Given the description of an element on the screen output the (x, y) to click on. 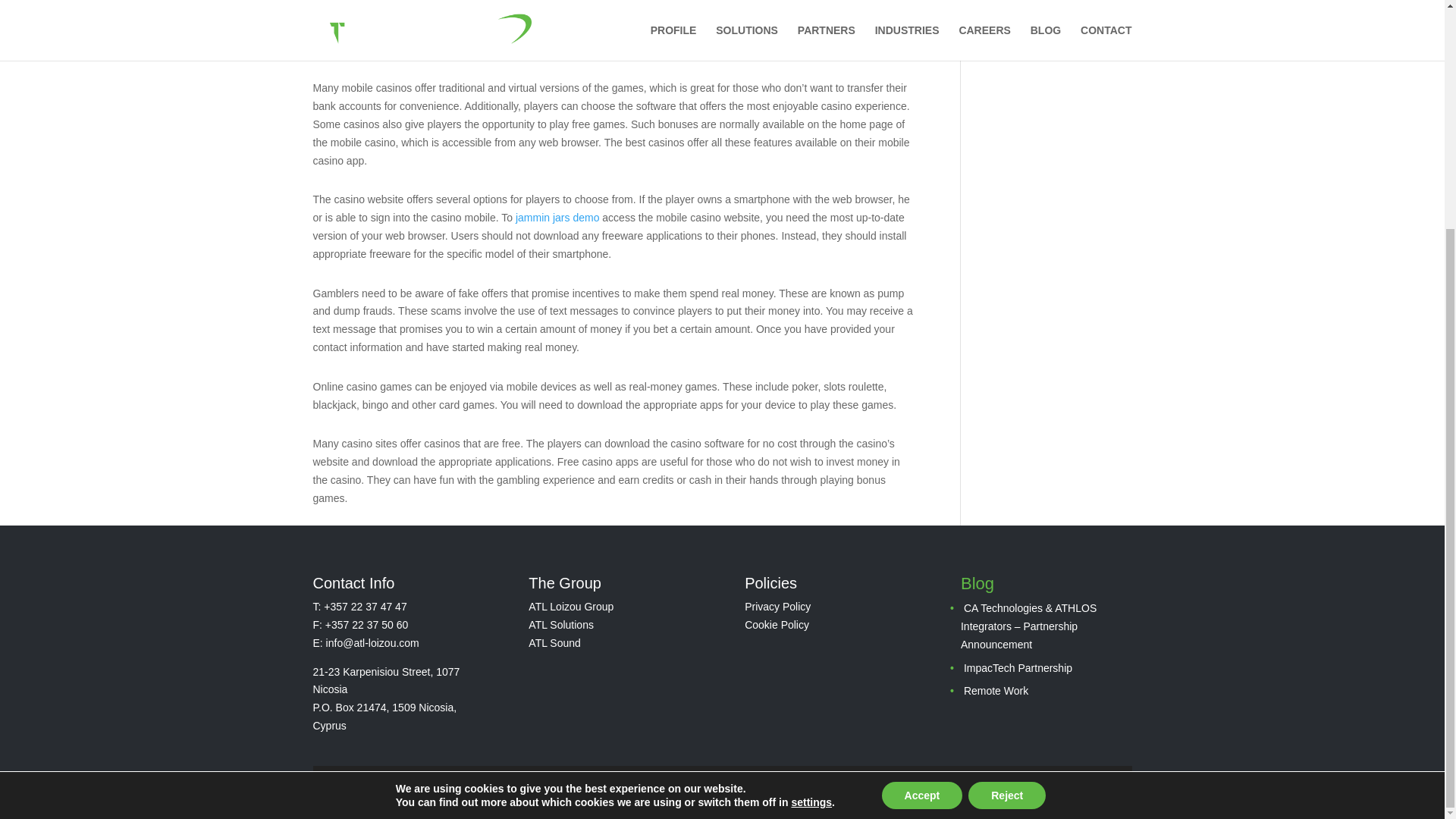
Follow on Instagram (460, 793)
Follow on Twitter (430, 793)
Follow on LinkedIn (491, 793)
Remote Work (995, 690)
Accept (922, 487)
ATL Sound (554, 643)
ATL Solutions (561, 624)
Follow on Facebook (400, 793)
Privacy Policy (777, 606)
Reject (1006, 487)
